Given the description of an element on the screen output the (x, y) to click on. 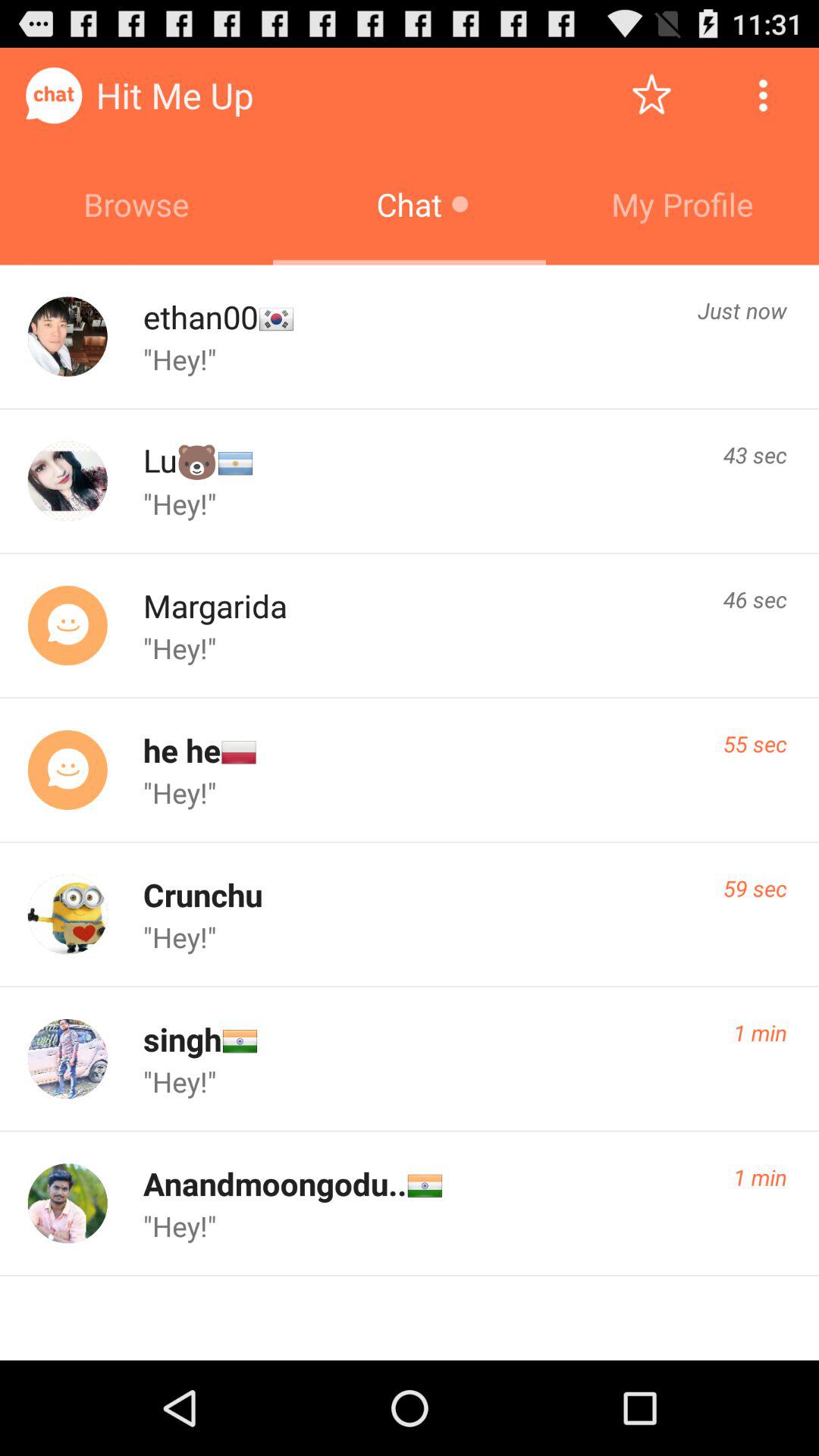
select the ethan00 icon (200, 316)
